Given the description of an element on the screen output the (x, y) to click on. 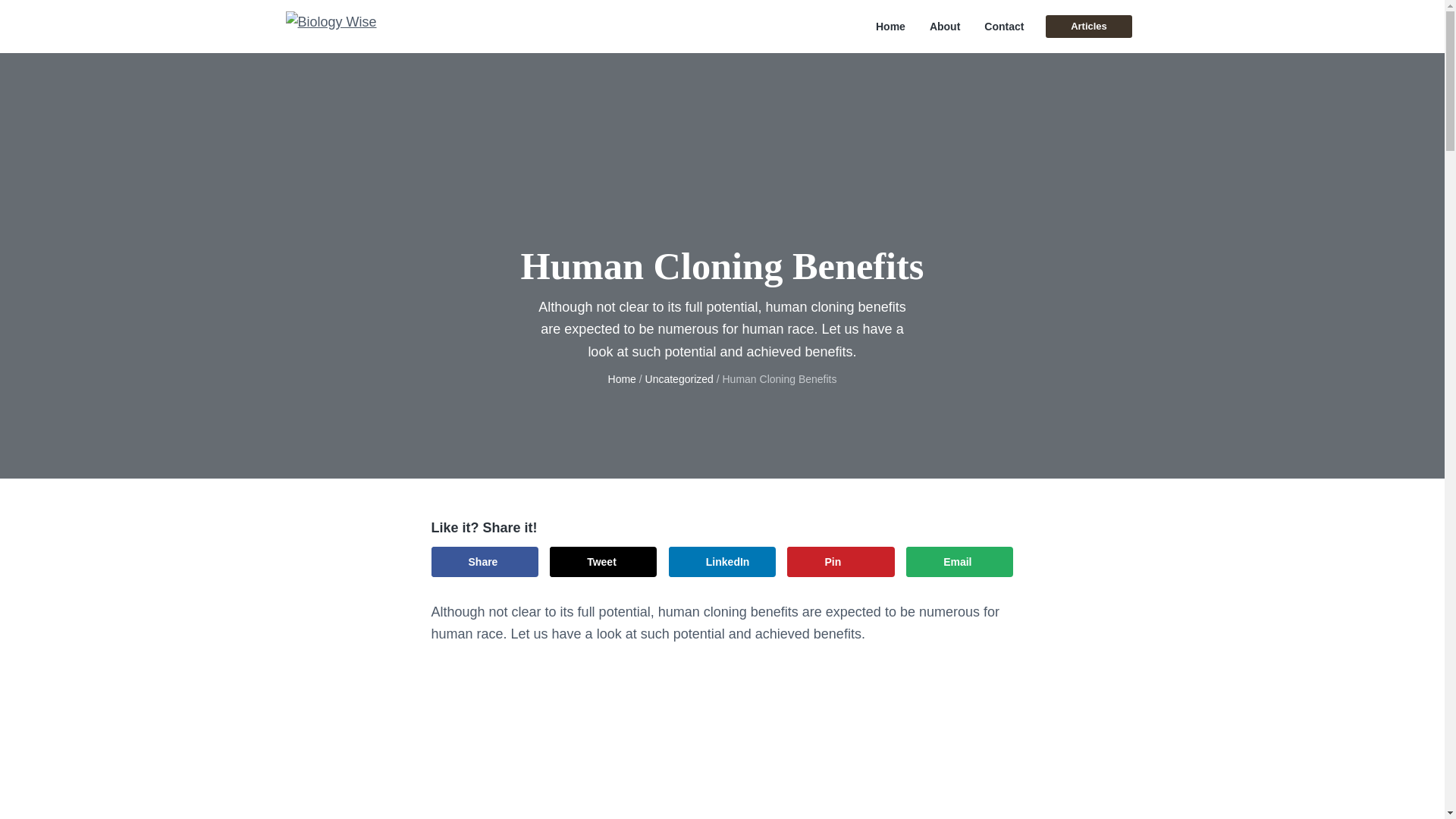
Contact (1003, 27)
Email (959, 562)
Articles (1087, 25)
Share on X (603, 562)
Share on Facebook (483, 562)
Tweet (603, 562)
Home (622, 378)
Save to Pinterest (840, 562)
Uncategorized (679, 378)
